Given the description of an element on the screen output the (x, y) to click on. 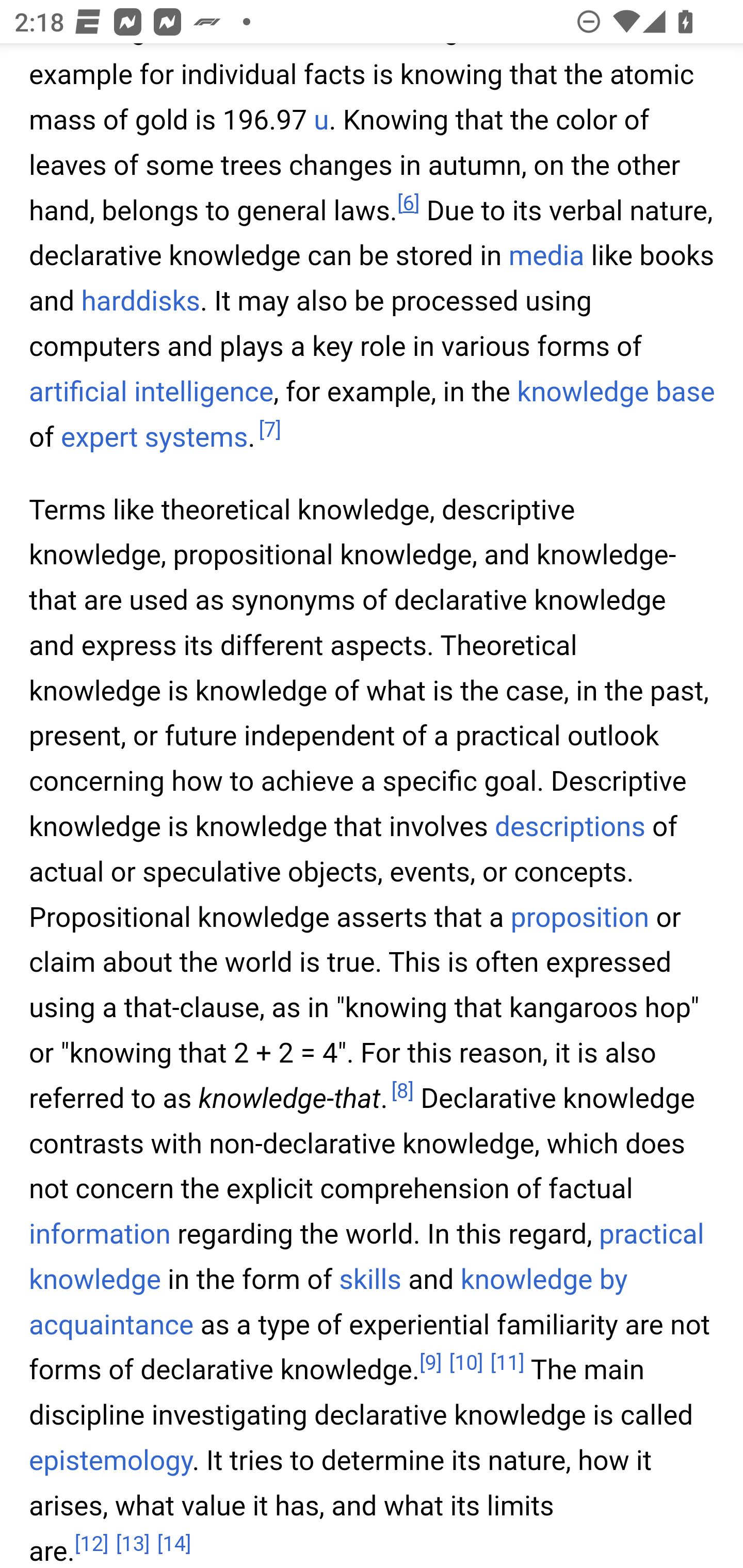
u (320, 121)
[] [ 6 ] (407, 204)
media (546, 256)
harddisks (140, 302)
artificial intelligence (151, 391)
knowledge base (616, 391)
[] [ 7 ] (269, 430)
expert systems (153, 437)
descriptions (570, 827)
proposition (579, 917)
[] [ 8 ] (402, 1091)
information (99, 1235)
practical knowledge (366, 1258)
knowledge by acquaintance (328, 1303)
skills (369, 1280)
[] [ 9 ] (430, 1363)
[] [ 10 ] (465, 1363)
[] [ 11 ] (506, 1363)
epistemology (110, 1461)
[] [ 12 ] (91, 1543)
[] [ 13 ] (133, 1543)
[] [ 14 ] (174, 1543)
